Given the description of an element on the screen output the (x, y) to click on. 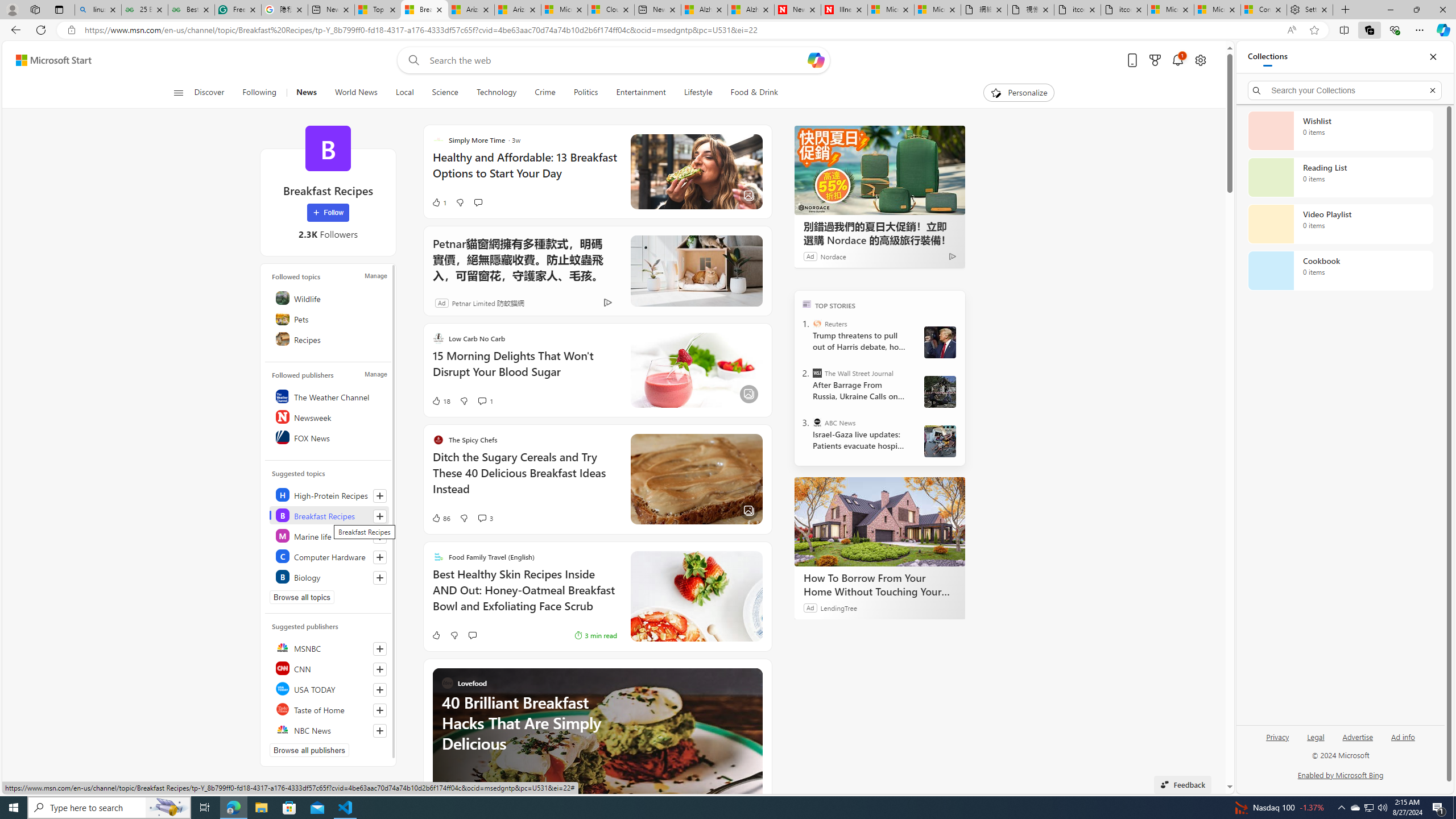
Entertainment (640, 92)
Crime (545, 92)
World News (355, 92)
